Given the description of an element on the screen output the (x, y) to click on. 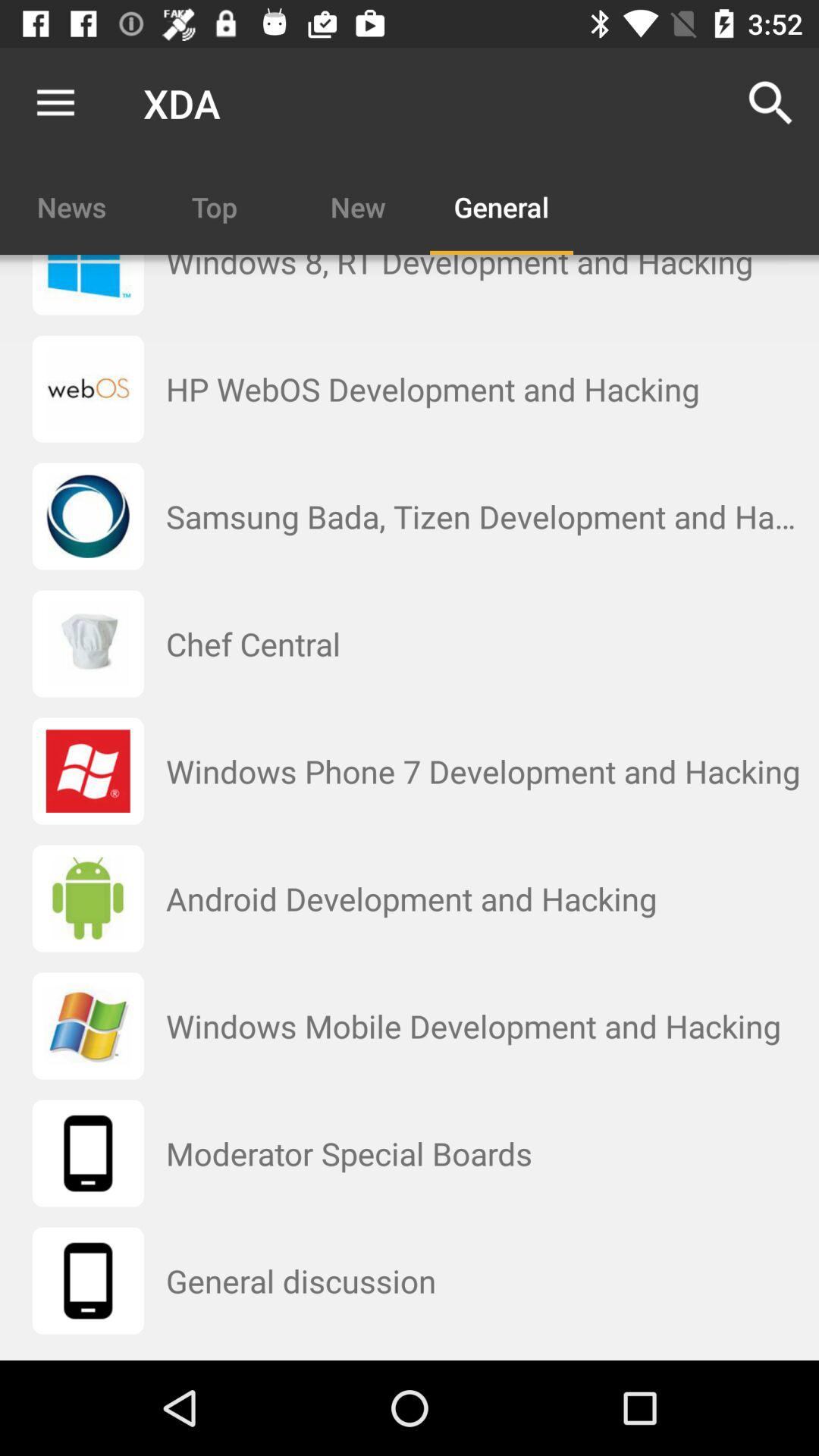
turn on the app to the right of the xda item (771, 103)
